Given the description of an element on the screen output the (x, y) to click on. 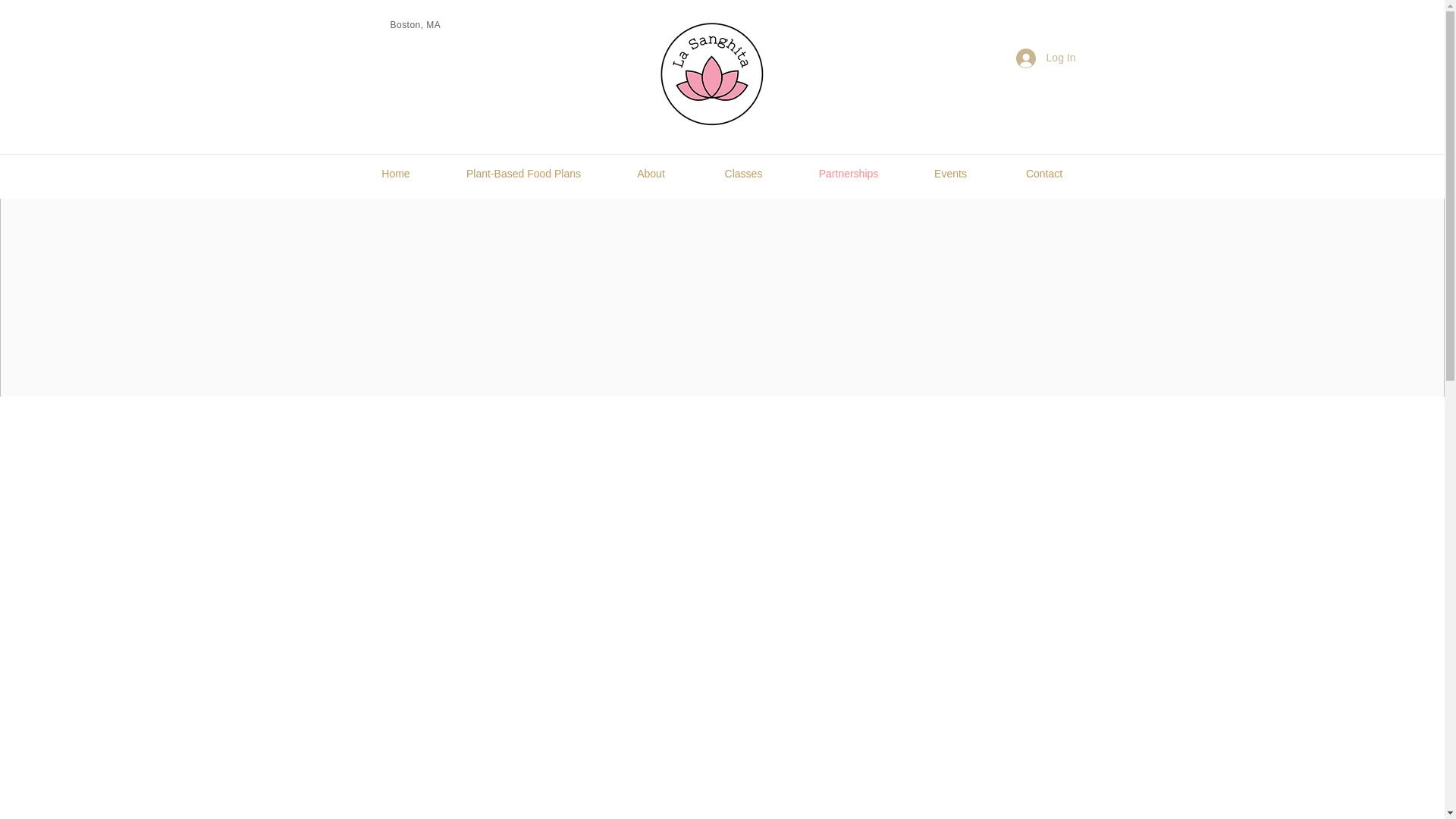
Classes (743, 173)
Events (949, 173)
Plant-Based Food Plans (524, 173)
Partnerships (848, 173)
Log In (1046, 58)
Home (395, 173)
About (651, 173)
Contact (1043, 173)
